Given the description of an element on the screen output the (x, y) to click on. 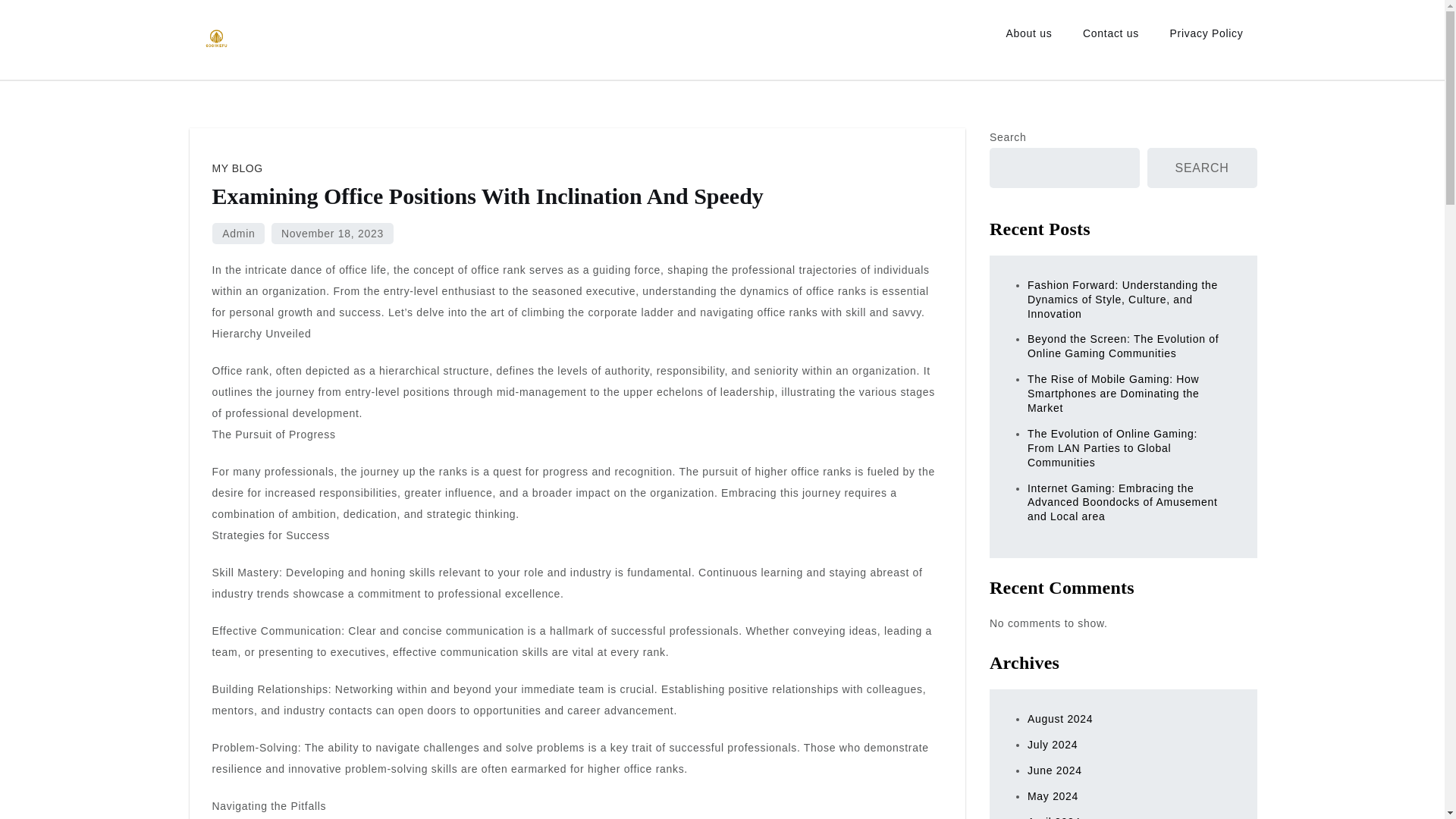
April 2024 (1053, 817)
July 2024 (1052, 744)
May 2024 (1052, 796)
Admin (238, 233)
SEARCH (1202, 168)
November 18, 2023 (331, 233)
August 2024 (1060, 718)
About us (1028, 33)
MY BLOG (237, 168)
June 2024 (1054, 770)
Contact us (1110, 33)
